Given the description of an element on the screen output the (x, y) to click on. 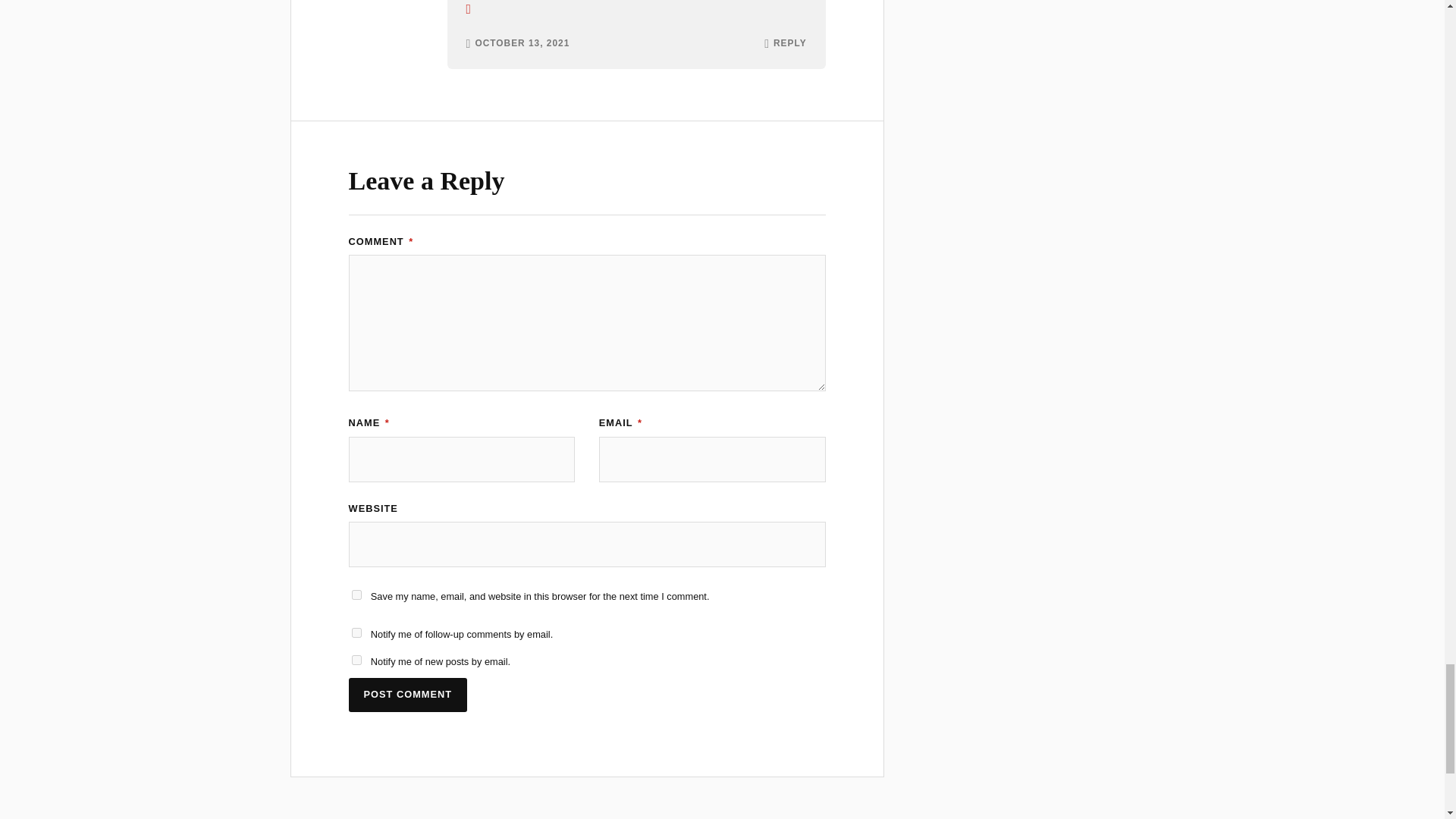
Post Comment (408, 694)
subscribe (356, 660)
yes (356, 594)
subscribe (356, 633)
